Given the description of an element on the screen output the (x, y) to click on. 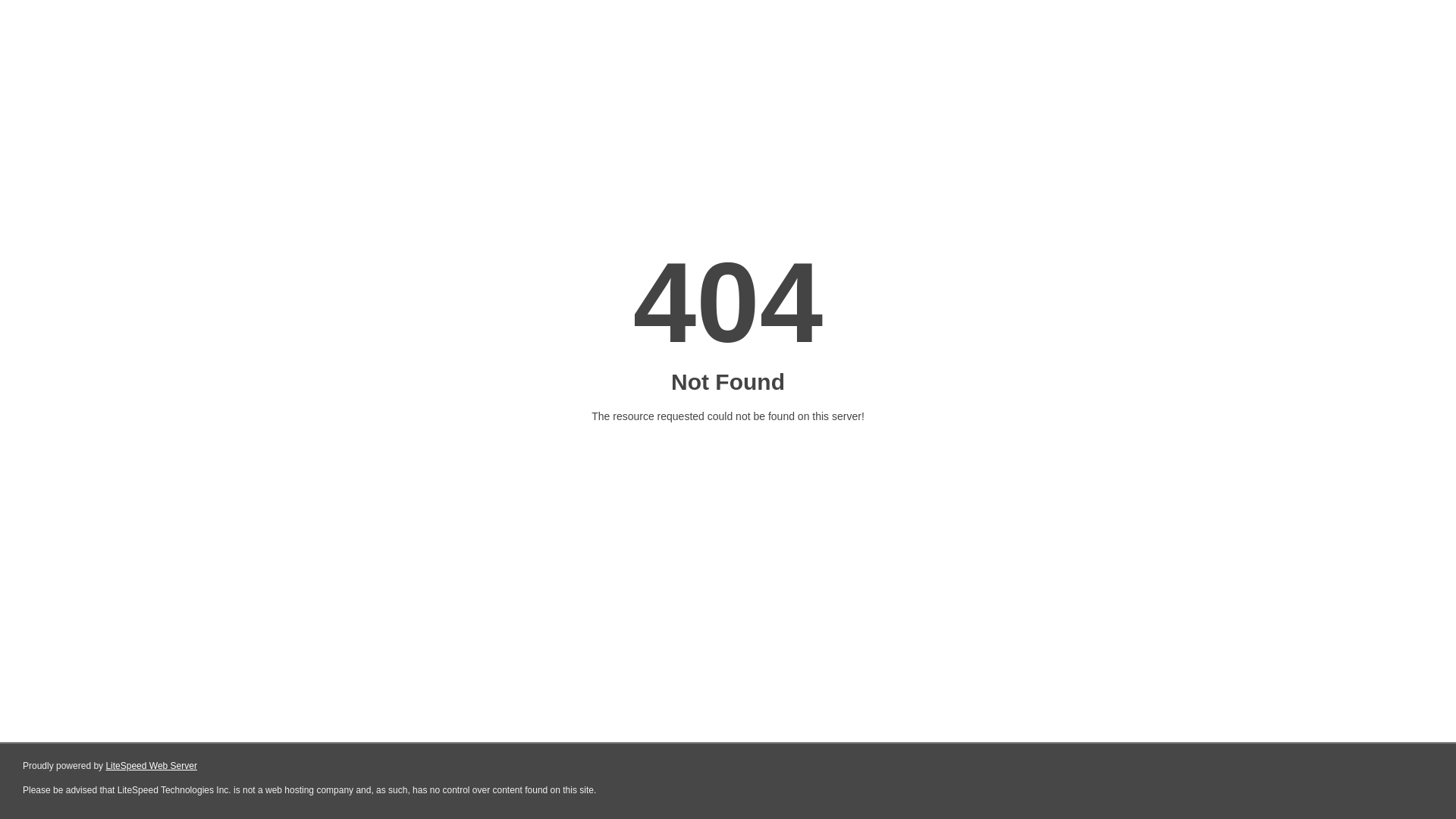
LiteSpeed Web Server Element type: text (151, 765)
